Given the description of an element on the screen output the (x, y) to click on. 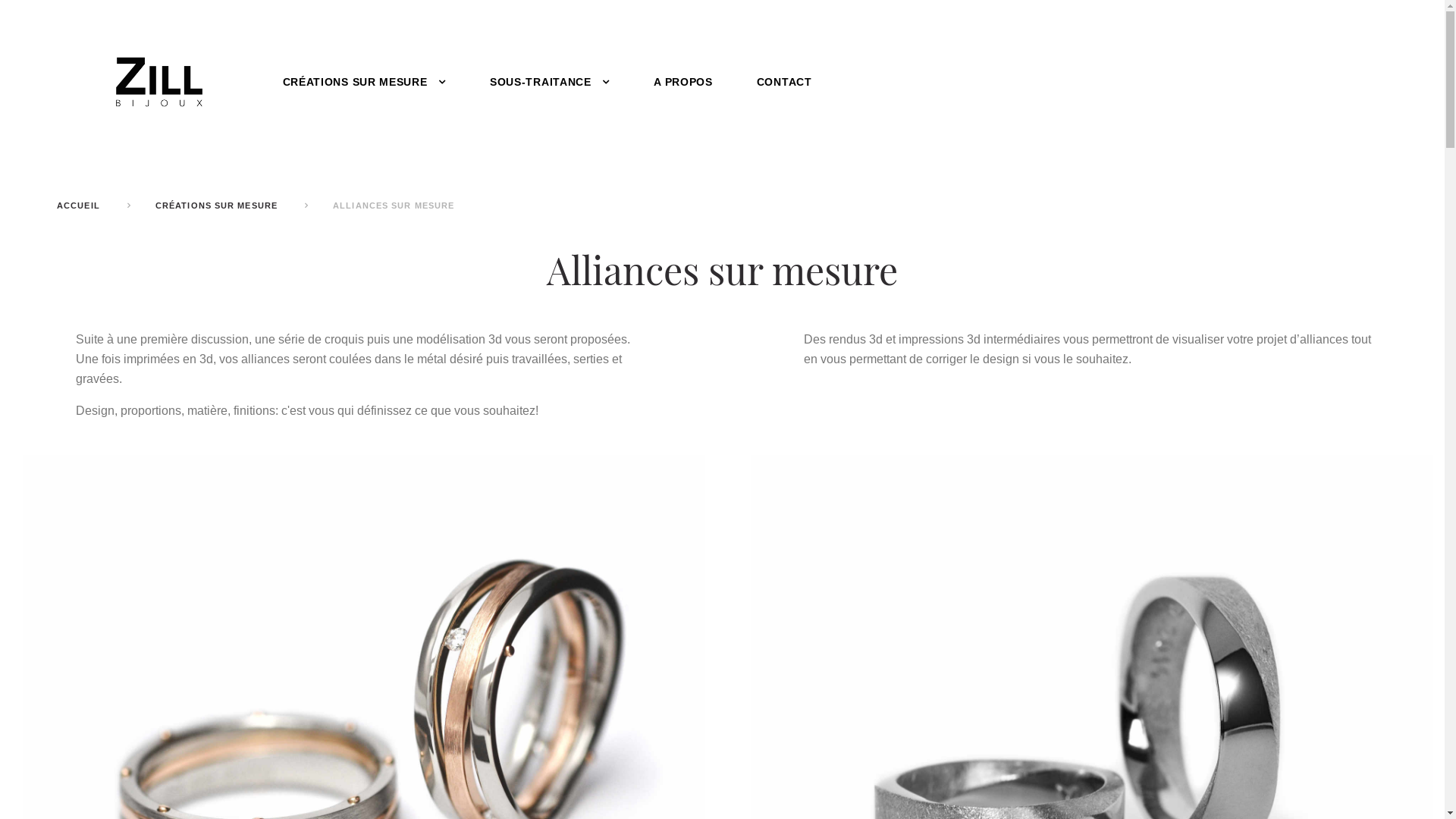
CONTACT Element type: text (784, 81)
A PROPOS Element type: text (682, 81)
ACCUEIL Element type: text (78, 205)
SOUS-TRAITANCE Element type: text (549, 81)
Zill Bijoux Element type: hover (158, 81)
